Given the description of an element on the screen output the (x, y) to click on. 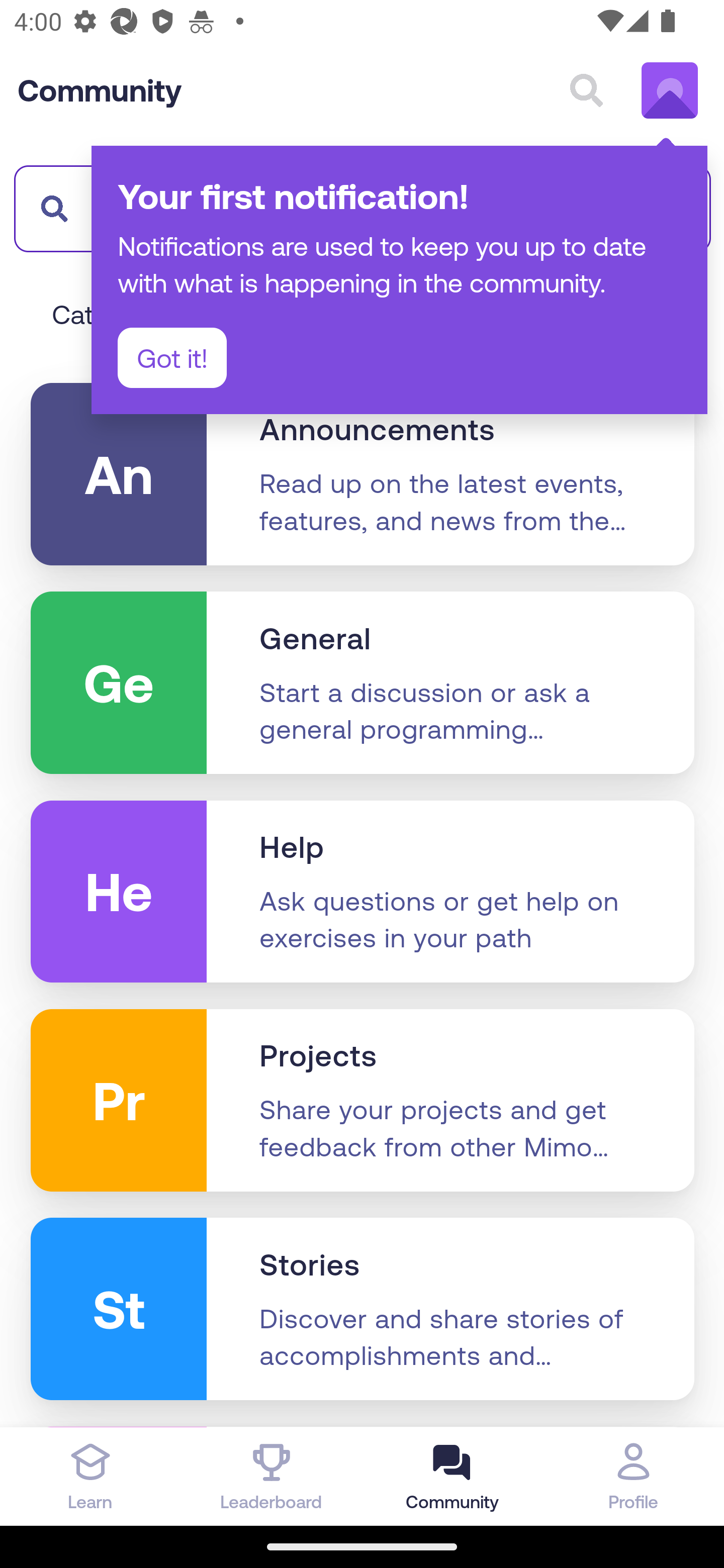
Search (586, 90)
Test Appium's account (669, 90)
Community (100, 90)
​ (48, 207)
Got it! (171, 357)
Announcements (376, 429)
General (315, 639)
Help (291, 847)
Projects (317, 1056)
Stories (309, 1265)
Learn (90, 1475)
Leaderboard (271, 1475)
Profile (633, 1475)
